Given the description of an element on the screen output the (x, y) to click on. 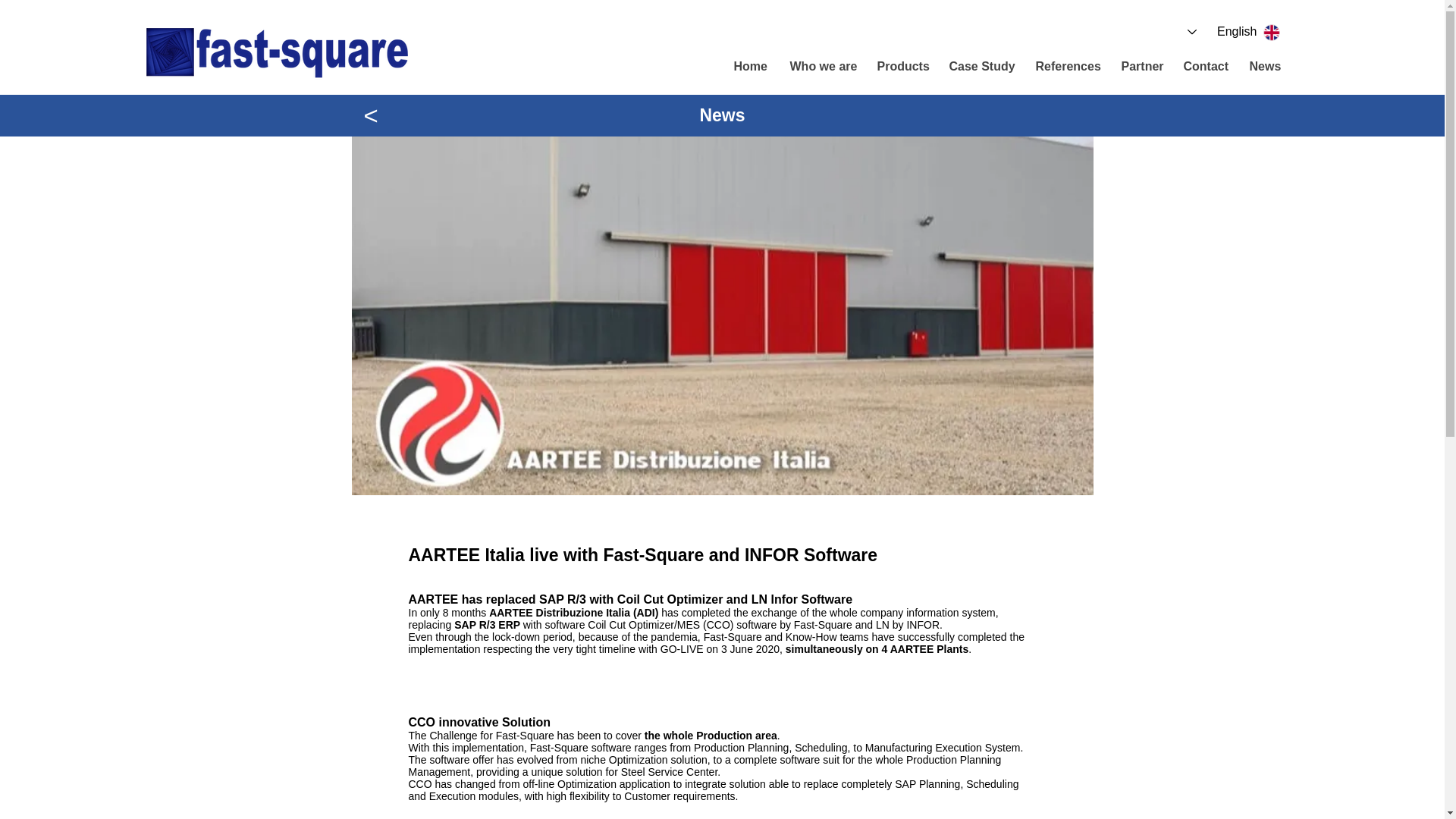
News (1264, 66)
Case Study (980, 66)
Partner (1139, 66)
Home (749, 66)
Contact (1203, 66)
Products (900, 66)
Who we are (820, 66)
AARTEE (510, 612)
References (1066, 66)
